Given the description of an element on the screen output the (x, y) to click on. 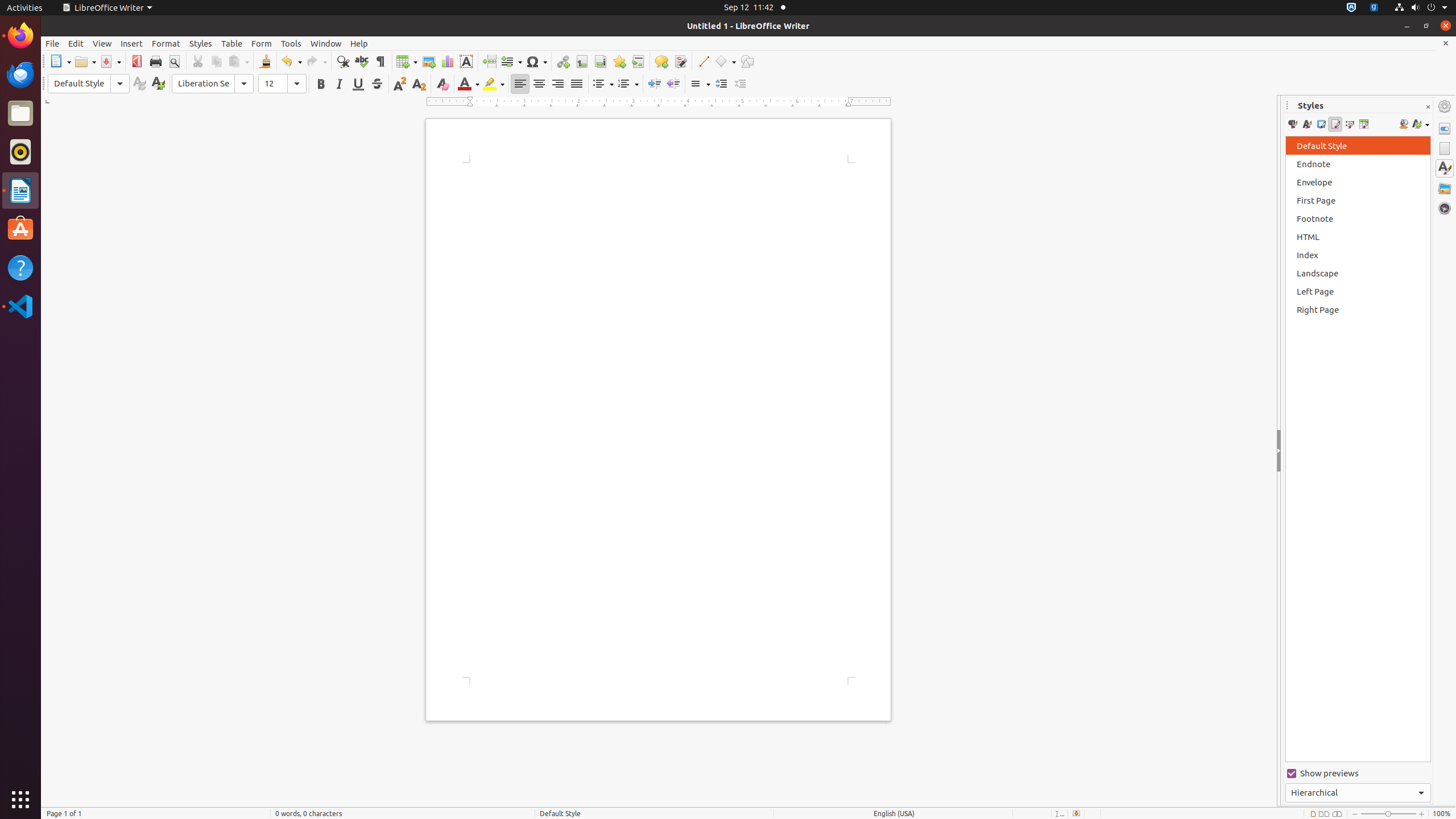
Numbering Element type: push-button (627, 83)
Field Element type: push-button (510, 61)
Paragraph Styles Element type: push-button (1292, 123)
org.kde.StatusNotifierItem-14077-1 Element type: menu (1373, 7)
Edit Element type: menu (75, 43)
